Given the description of an element on the screen output the (x, y) to click on. 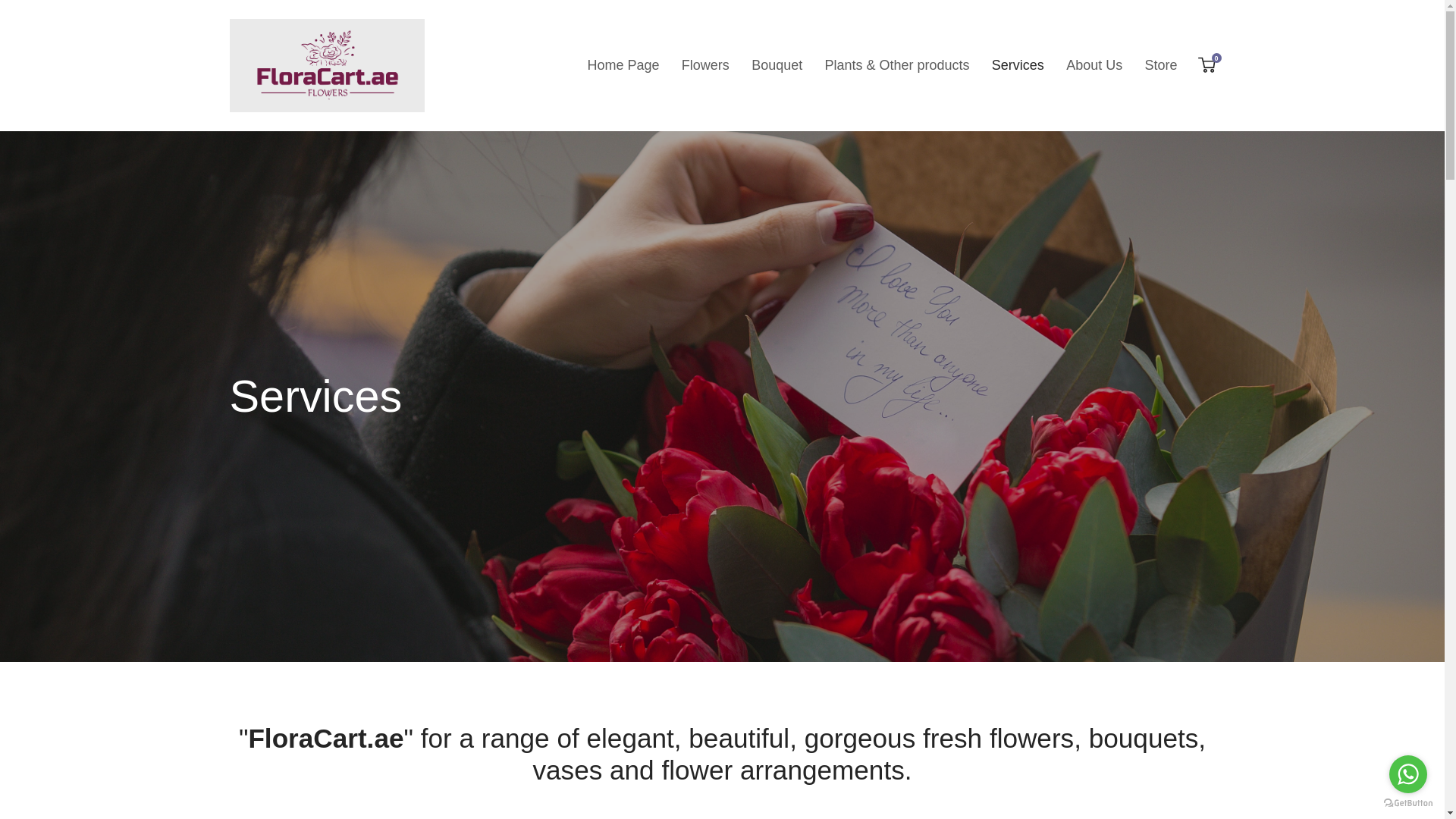
Store (1160, 64)
Services (1017, 64)
Home Page (623, 64)
About Us (1206, 65)
Bouquet (1094, 64)
Flowers (776, 64)
